Given the description of an element on the screen output the (x, y) to click on. 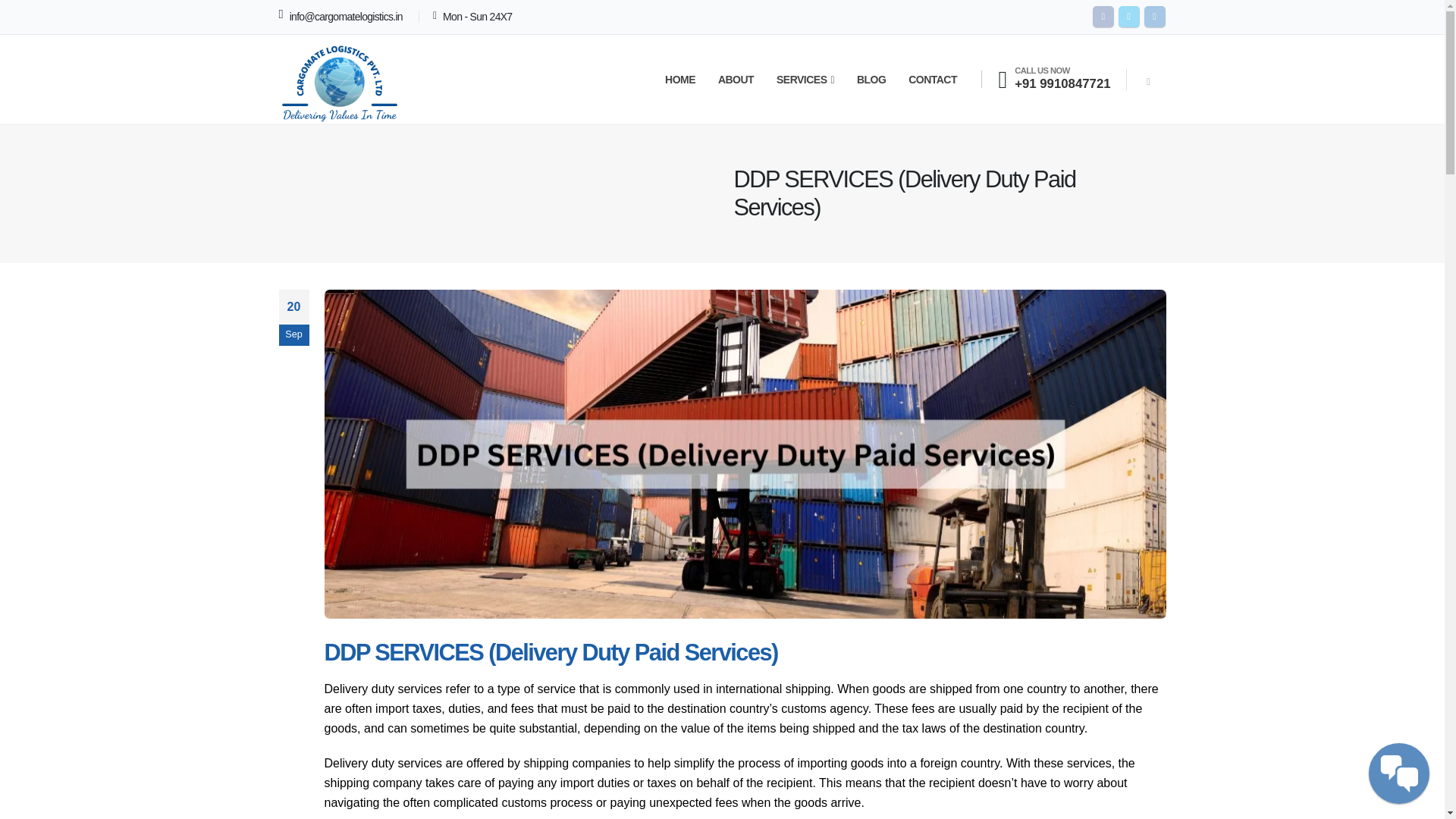
Facebook (1103, 16)
Twitter (1129, 16)
LinkedIn (1153, 16)
SERVICES (805, 79)
Cargomate Logistics Pvt Ltd  - Delivering Values In time (339, 79)
